Given the description of an element on the screen output the (x, y) to click on. 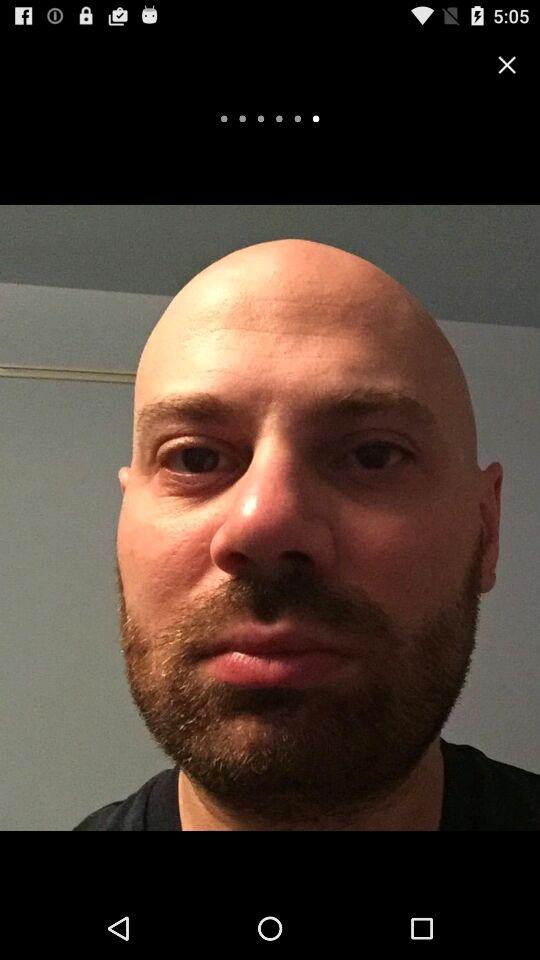
close the option (507, 64)
